Given the description of an element on the screen output the (x, y) to click on. 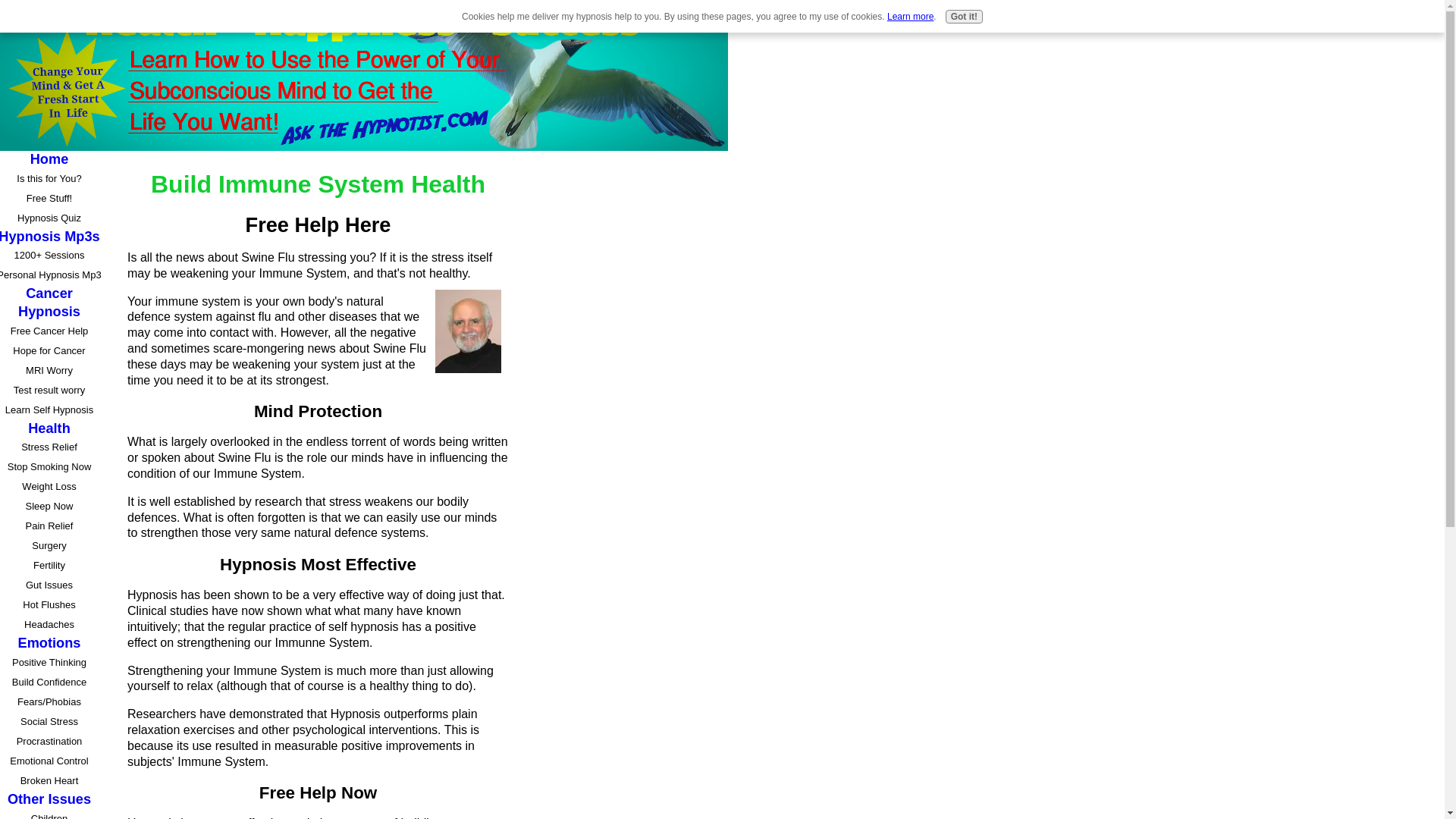
Is this for You? (50, 178)
Hot Flushes (50, 605)
Surgery (50, 546)
Weight Loss (50, 486)
Children (50, 814)
Learn Self Hypnosis (50, 410)
Free Stuff! (50, 198)
Broken Heart (50, 781)
Headaches (50, 624)
Stress Relief (50, 447)
Emotional Control (50, 761)
Sleep Now (50, 506)
Positive Thinking (50, 662)
Free Cancer Help (50, 331)
Test result worry (50, 390)
